Given the description of an element on the screen output the (x, y) to click on. 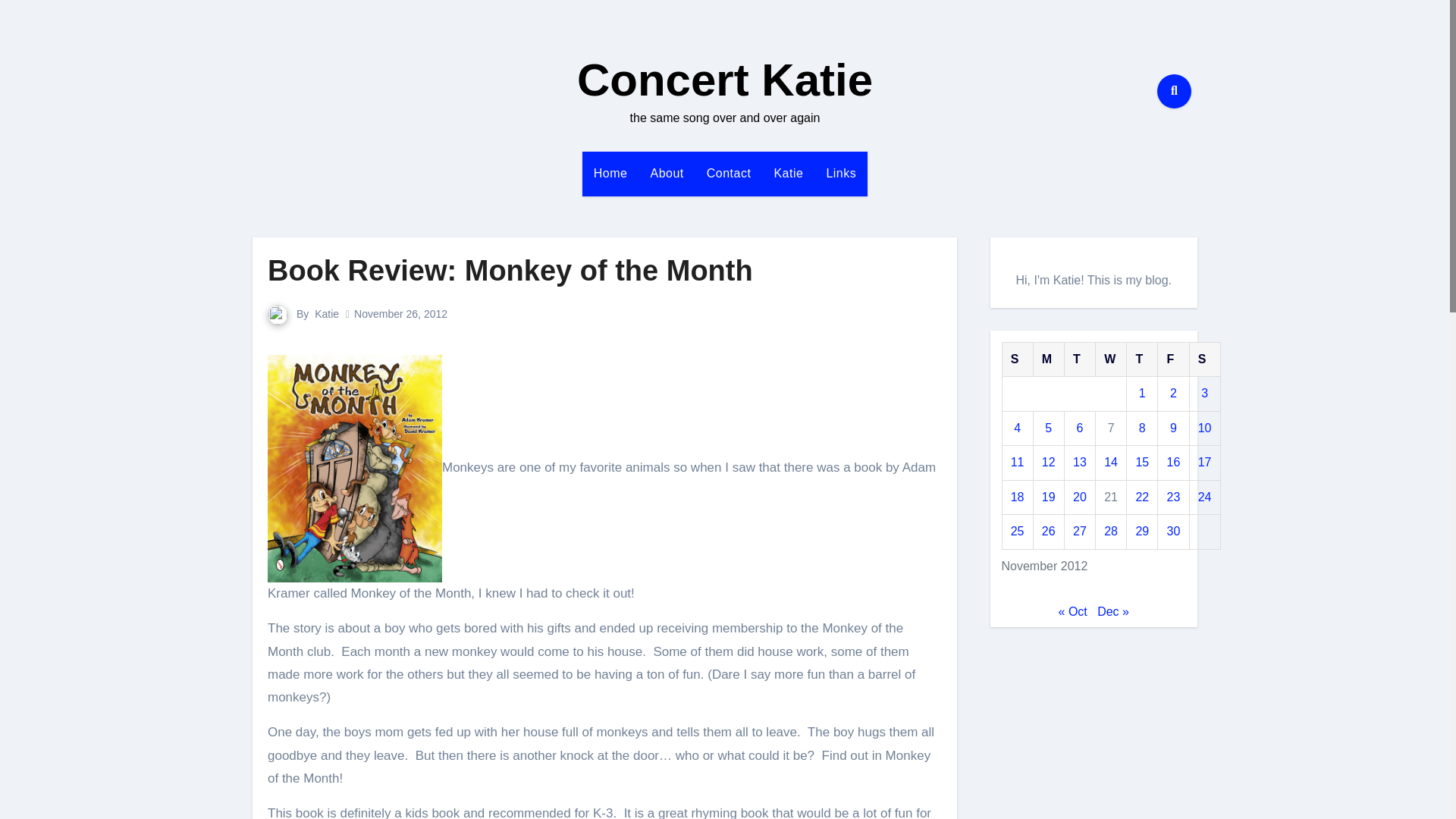
Tuesday (1079, 358)
Contact (728, 173)
Monday (1048, 358)
14 (1110, 461)
Home (610, 173)
Thursday (1141, 358)
Wednesday (1111, 358)
Home (610, 173)
About (666, 173)
Book Review: Monkey of the Month (509, 270)
